Given the description of an element on the screen output the (x, y) to click on. 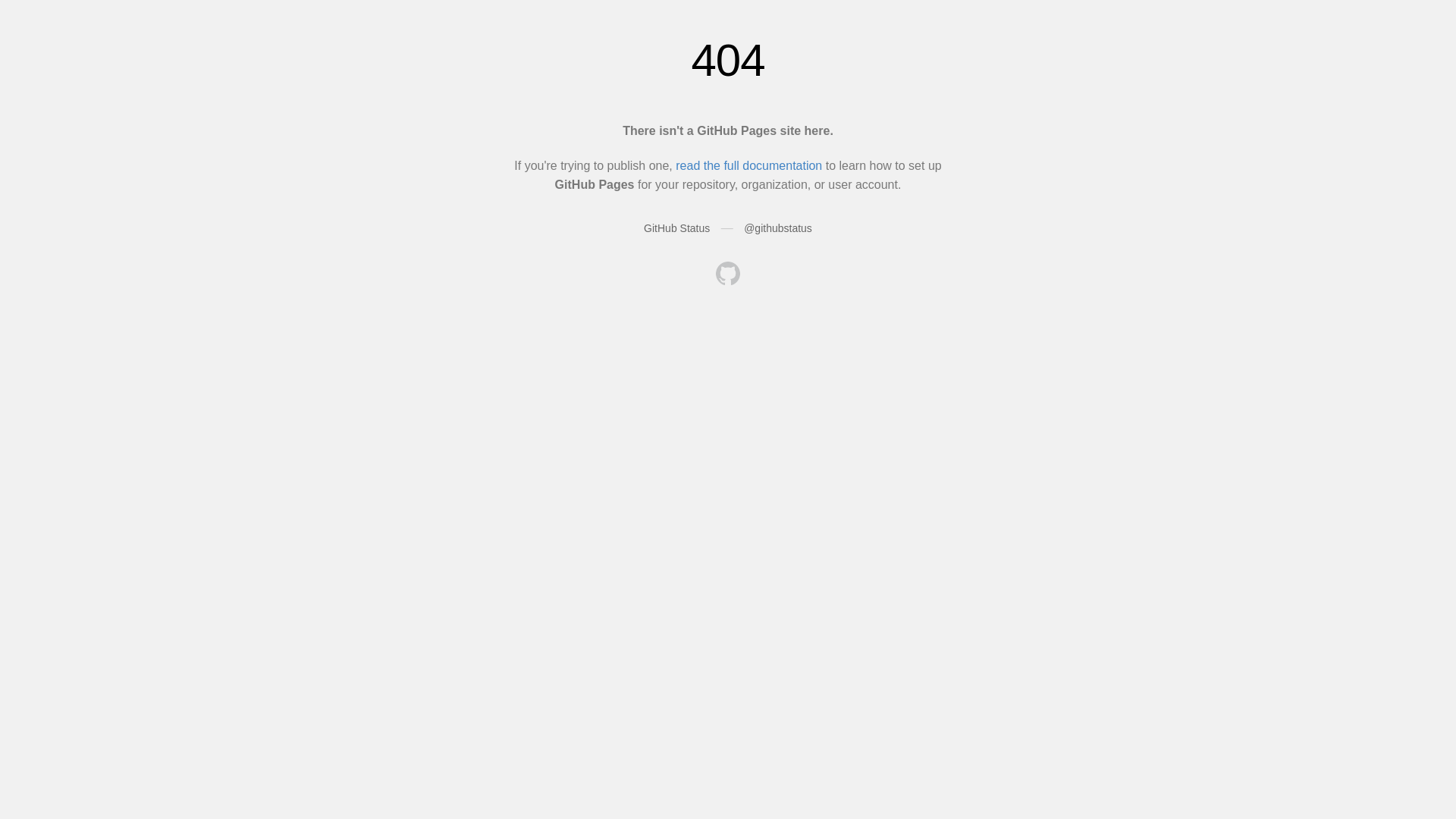
read the full documentation Element type: text (748, 165)
@githubstatus Element type: text (777, 228)
GitHub Status Element type: text (676, 228)
